Given the description of an element on the screen output the (x, y) to click on. 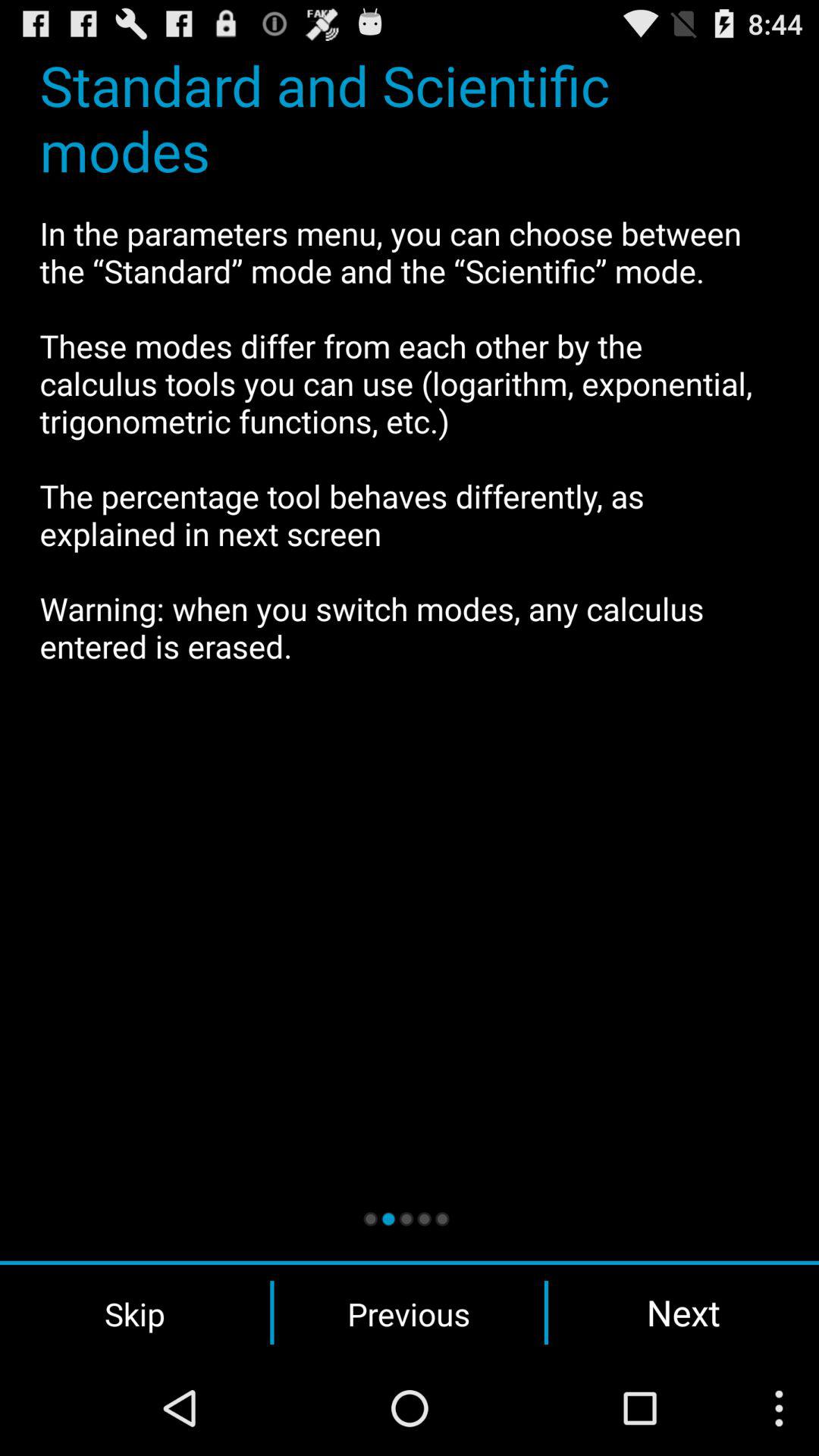
jump to the previous button (409, 1313)
